Given the description of an element on the screen output the (x, y) to click on. 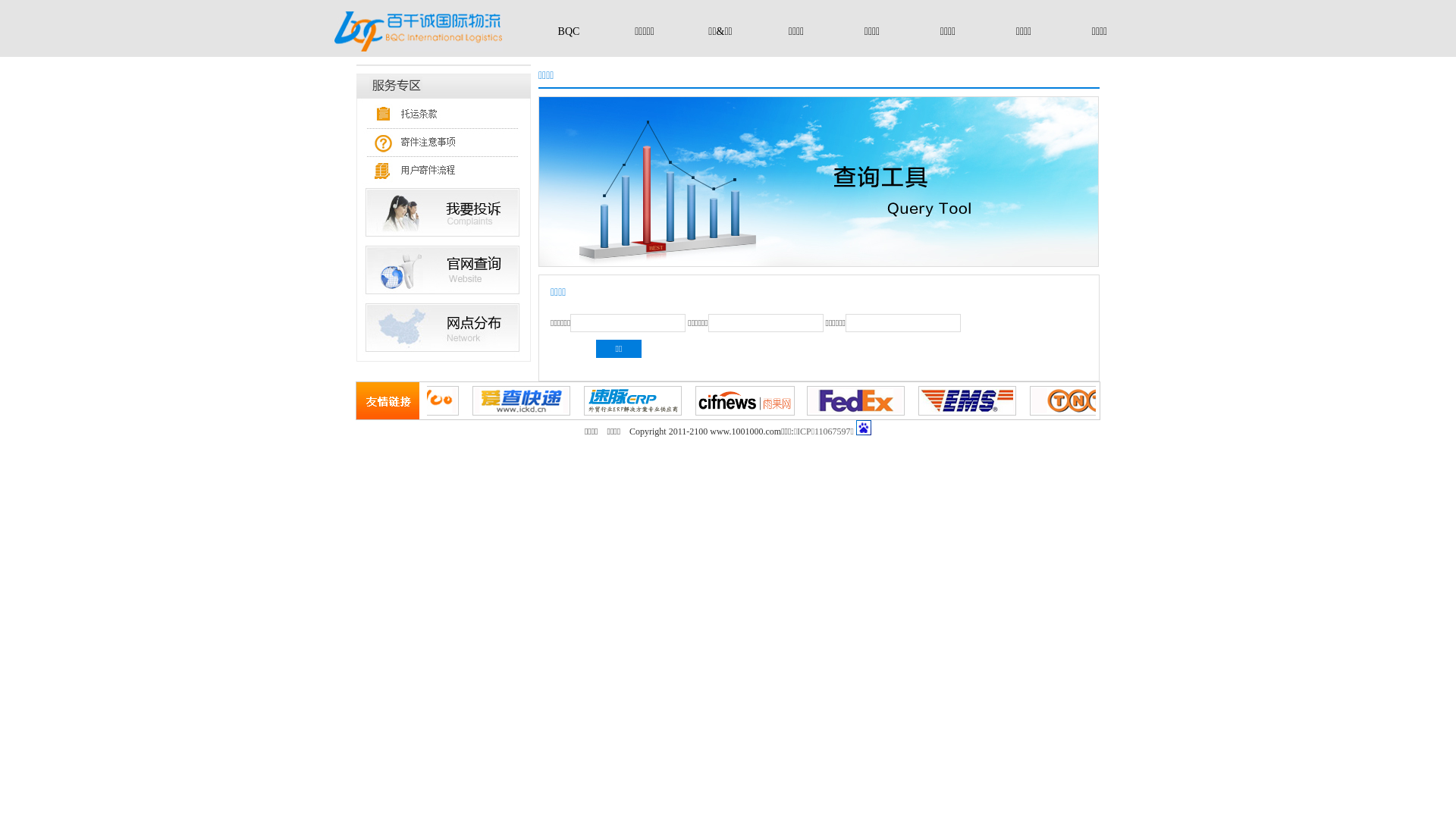
BQC Element type: text (568, 31)
